Given the description of an element on the screen output the (x, y) to click on. 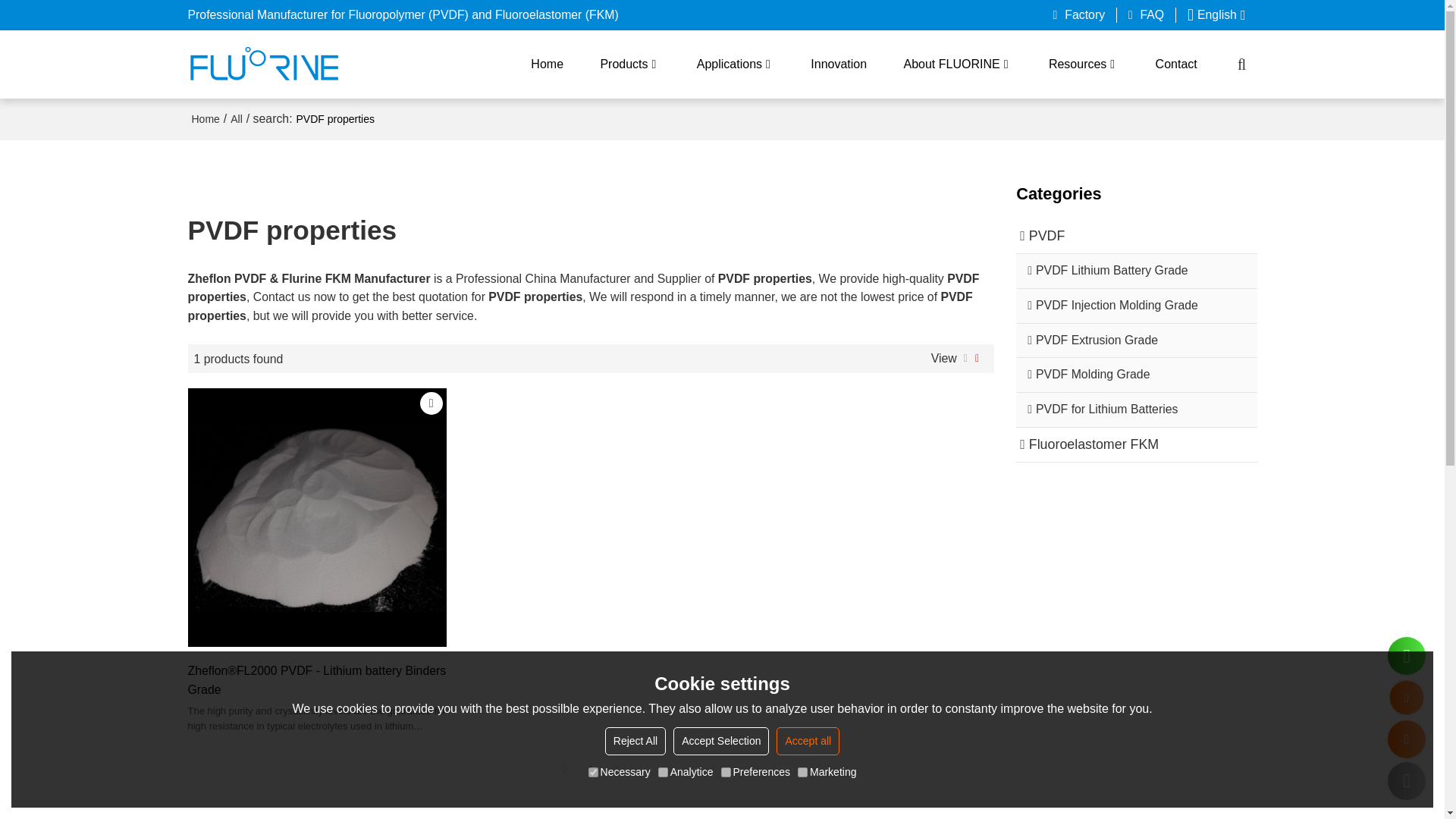
Home (204, 118)
FAQ (1146, 14)
on (802, 772)
English (1216, 15)
on (725, 772)
Zhejiang Fluorine Chemical New Materials Co., Ltd (263, 64)
Applications (735, 64)
About FLUORINE (957, 64)
on (593, 772)
on (663, 772)
English (1216, 15)
About FLUORINE (957, 64)
Factory (1079, 14)
Resources (1083, 64)
Factory (1079, 14)
